Given the description of an element on the screen output the (x, y) to click on. 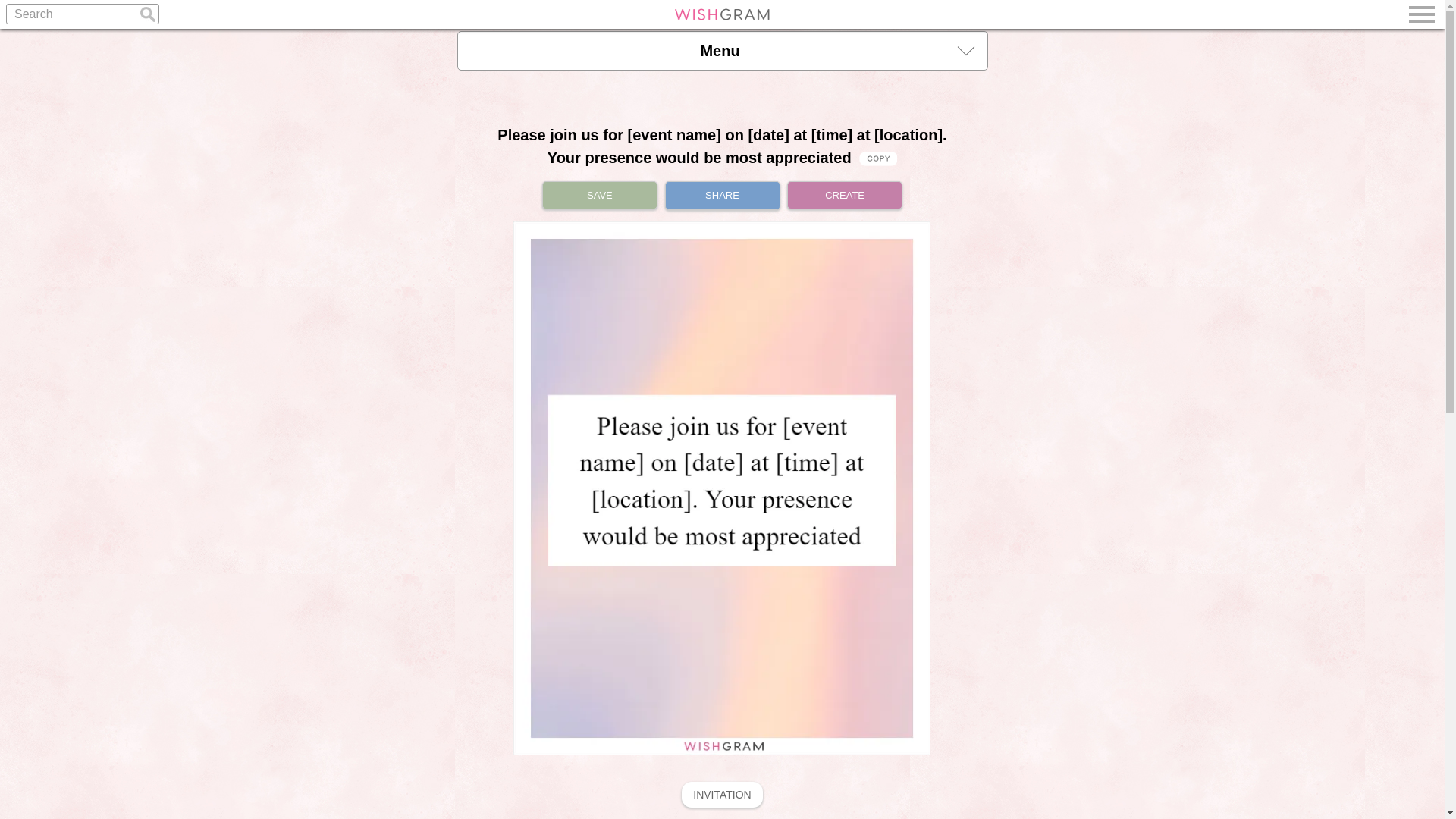
CREATE (844, 194)
INVITATION (721, 794)
SAVE (599, 194)
Search (81, 14)
